Given the description of an element on the screen output the (x, y) to click on. 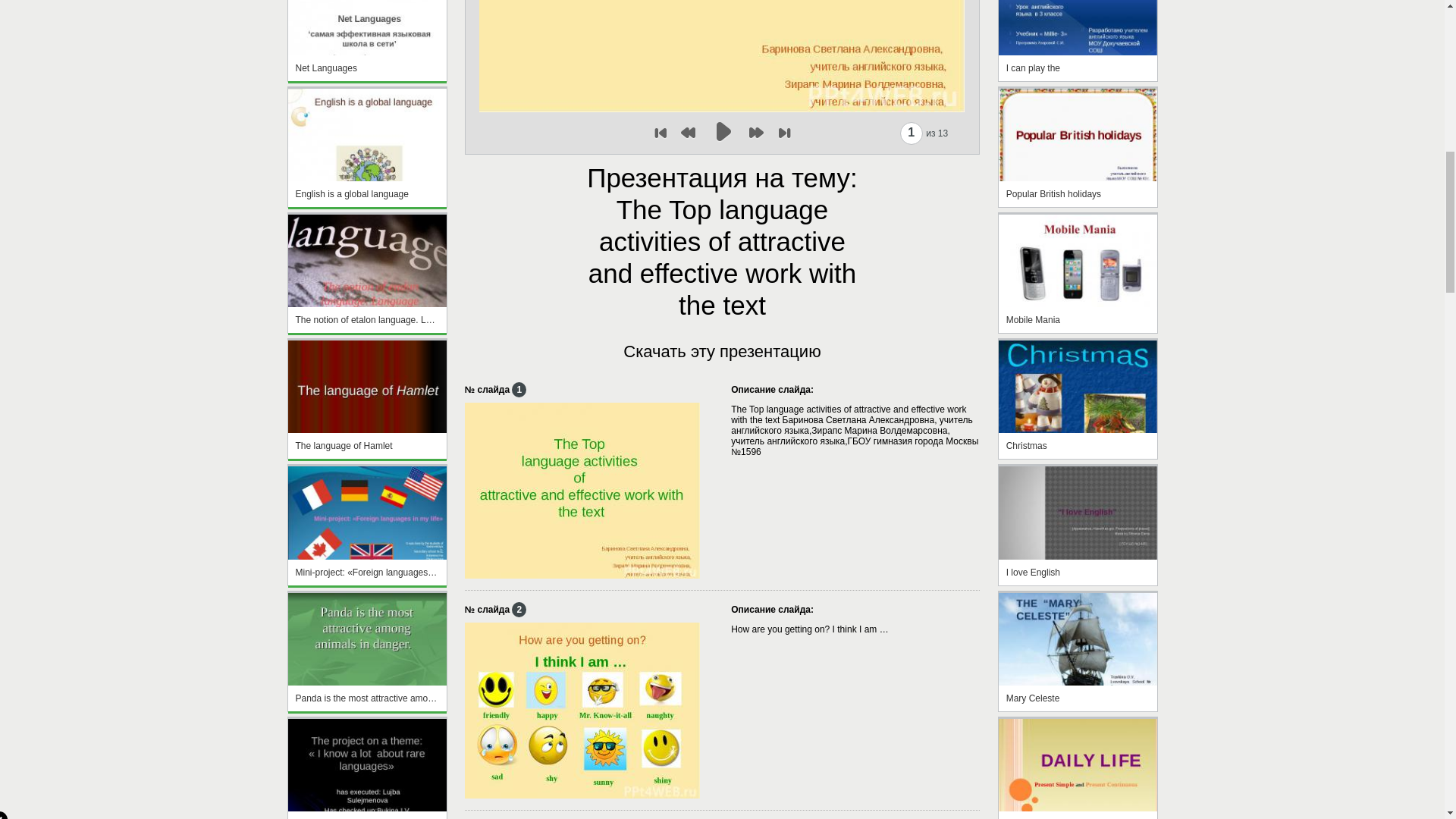
Panda is the most attractive among animals in danger (367, 707)
I can play the (1077, 77)
English is a global language (367, 204)
English is a global language (367, 193)
Popular British holidays (1077, 204)
The language of Hamlet (367, 455)
The language of Hamlet (367, 399)
Net Languages (367, 77)
English is a global language (367, 147)
Net Languages (367, 40)
Net Languages (367, 68)
The language of Hamlet (367, 445)
